Given the description of an element on the screen output the (x, y) to click on. 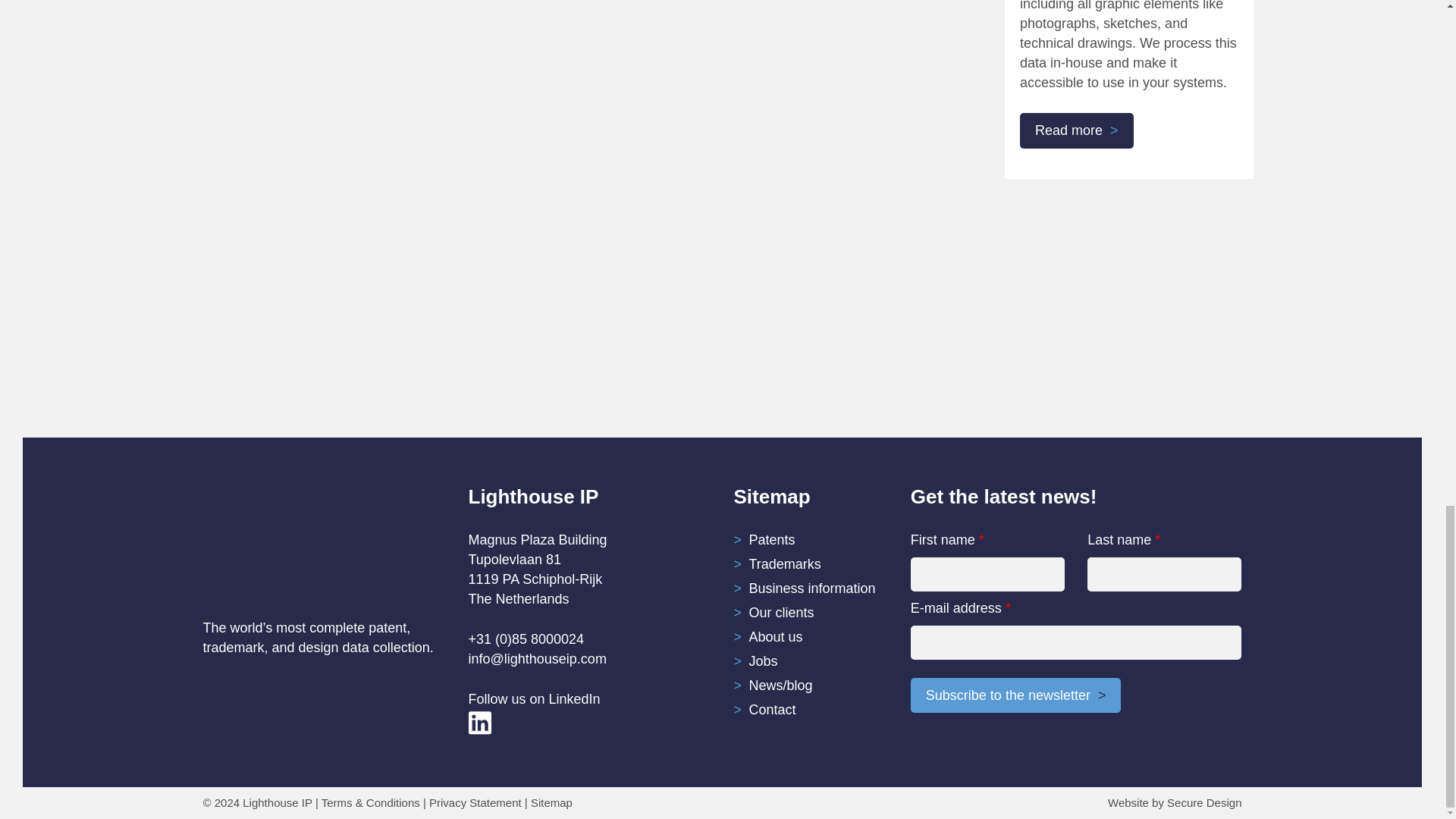
Sitemap (551, 802)
Jobs (763, 661)
Contact (772, 709)
Privacy Statement (475, 802)
About us (776, 636)
Read more (1077, 130)
Subscribe to the newsletter (1016, 695)
Patents (771, 539)
Our clients (781, 612)
Trademarks (785, 563)
